Given the description of an element on the screen output the (x, y) to click on. 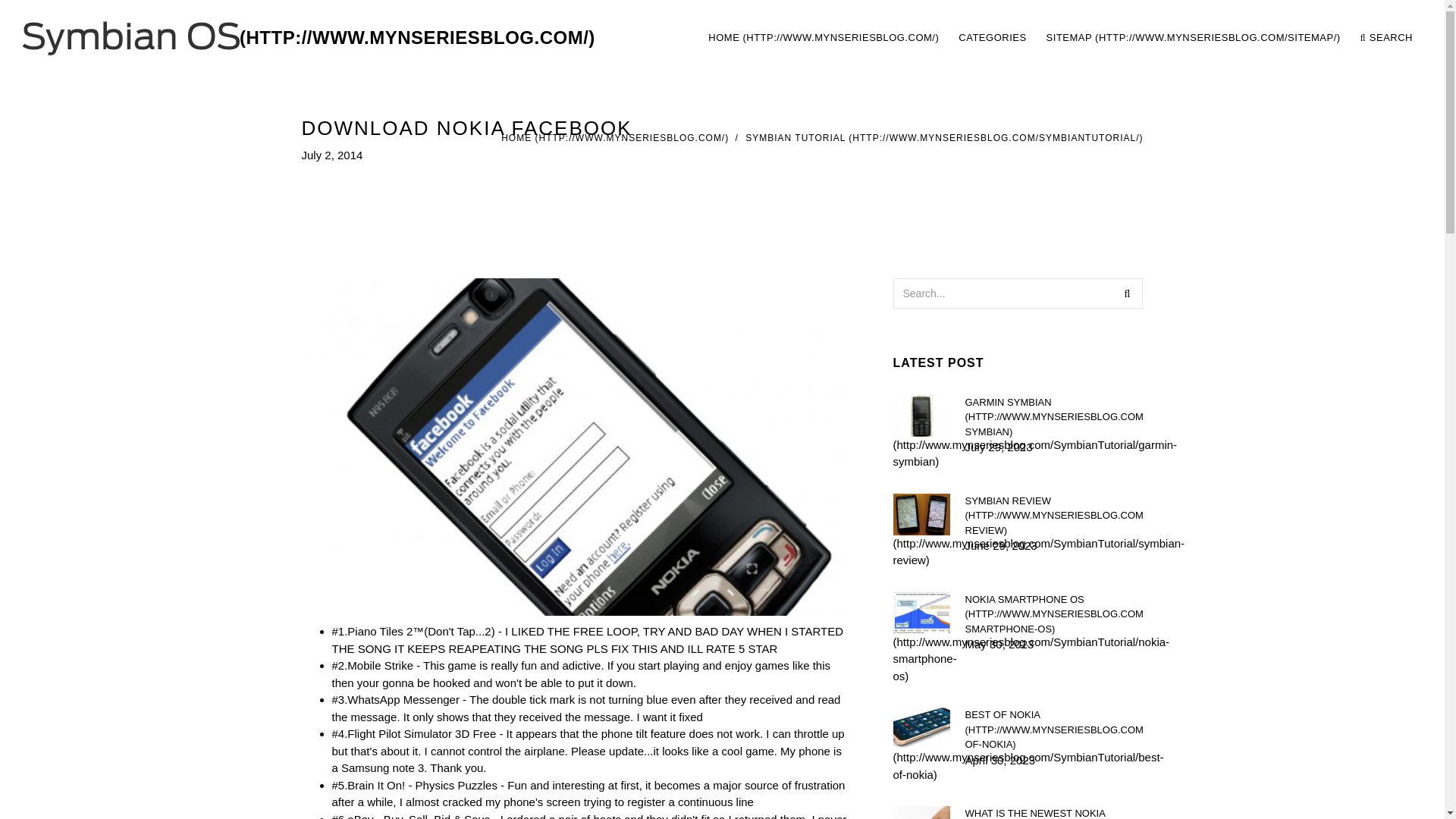
SYMBIAN TUTORIAL (943, 137)
SYMBIAN REVIEW (1052, 515)
Search (1126, 292)
HOME (614, 137)
HOME (822, 38)
WHAT IS THE NEWEST NOKIA PHONE? (1052, 812)
Symbian OS (309, 38)
SITEMAP (1192, 38)
BEST OF NOKIA (1052, 729)
SEARCH (1386, 38)
